Given the description of an element on the screen output the (x, y) to click on. 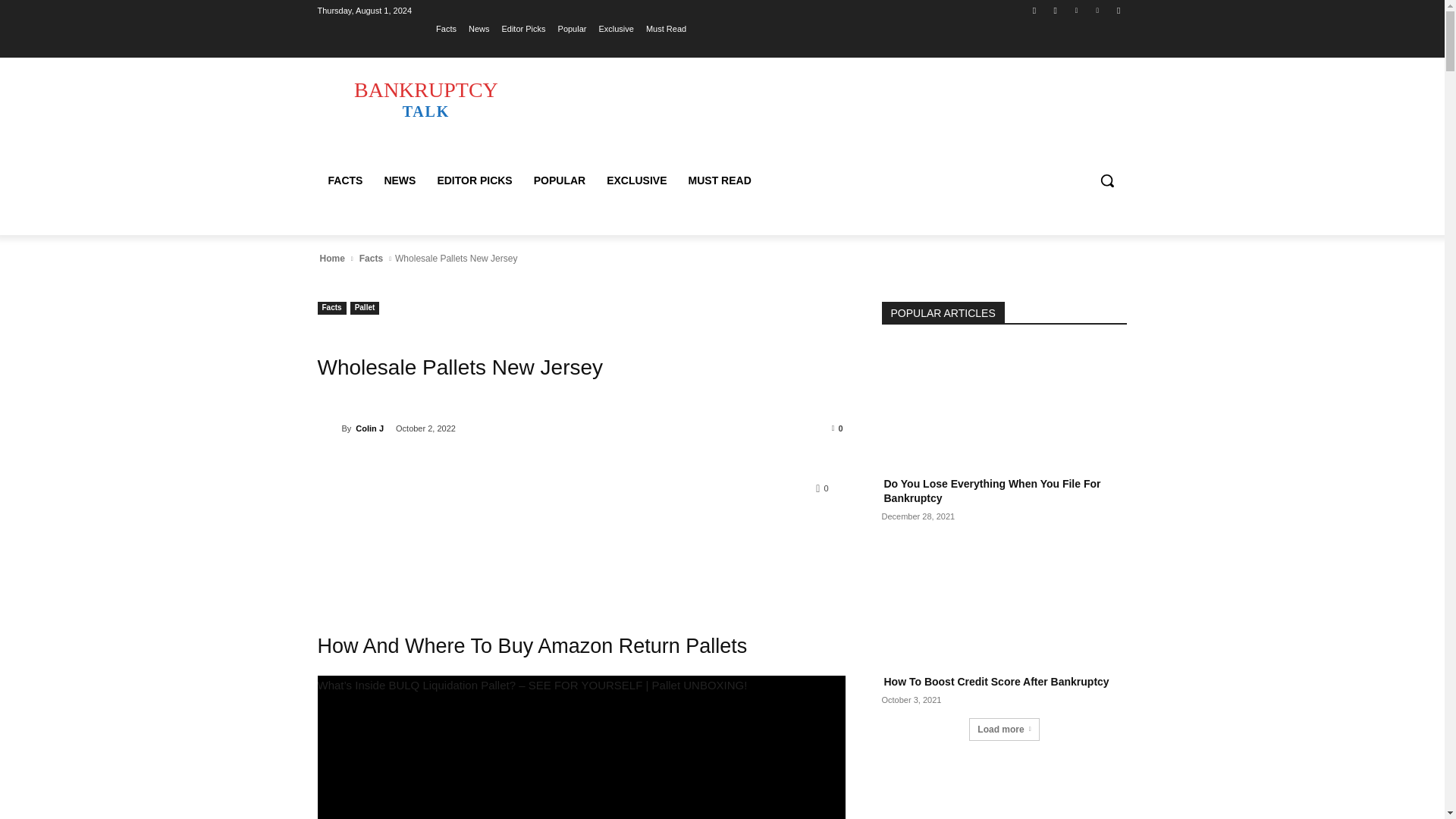
Vimeo (1097, 9)
View all posts in Facts (370, 258)
Must Read (665, 28)
EDITOR PICKS (474, 180)
Twitter (1075, 9)
Home (331, 258)
Facts (370, 258)
POPULAR (558, 180)
EXCLUSIVE (636, 180)
Facebook (1034, 9)
